Given the description of an element on the screen output the (x, y) to click on. 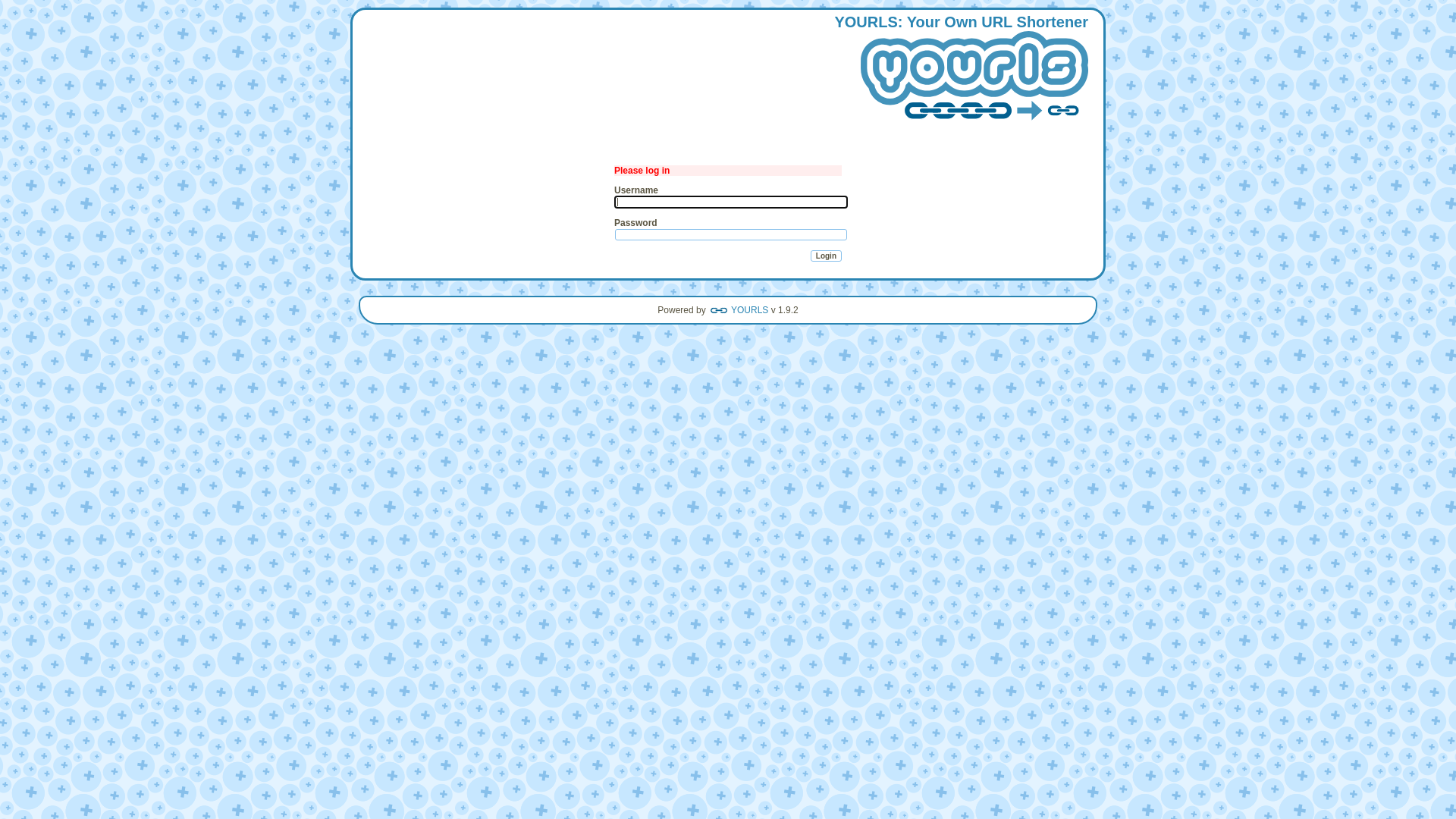
Login Element type: text (825, 255)
YOURLS Element type: hover (974, 77)
YOURLS: Your Own URL Shortener Element type: text (961, 70)
YOURLS Element type: text (738, 309)
